Given the description of an element on the screen output the (x, y) to click on. 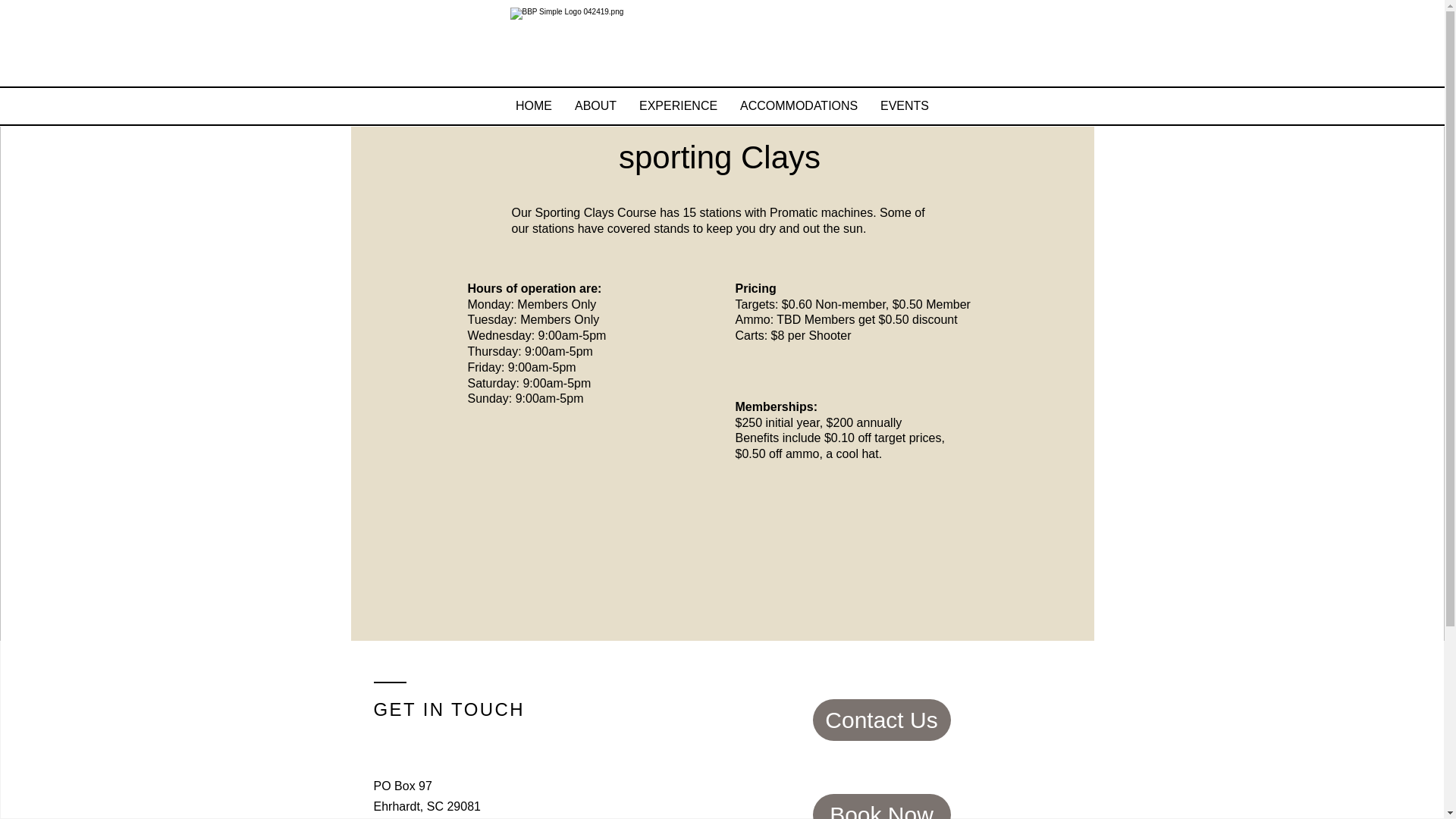
ABOUT (595, 105)
Contact Us (881, 720)
EXPERIENCE (678, 105)
ACCOMMODATIONS (799, 105)
EVENTS (904, 105)
HOME (533, 105)
Book Now (881, 806)
